Given the description of an element on the screen output the (x, y) to click on. 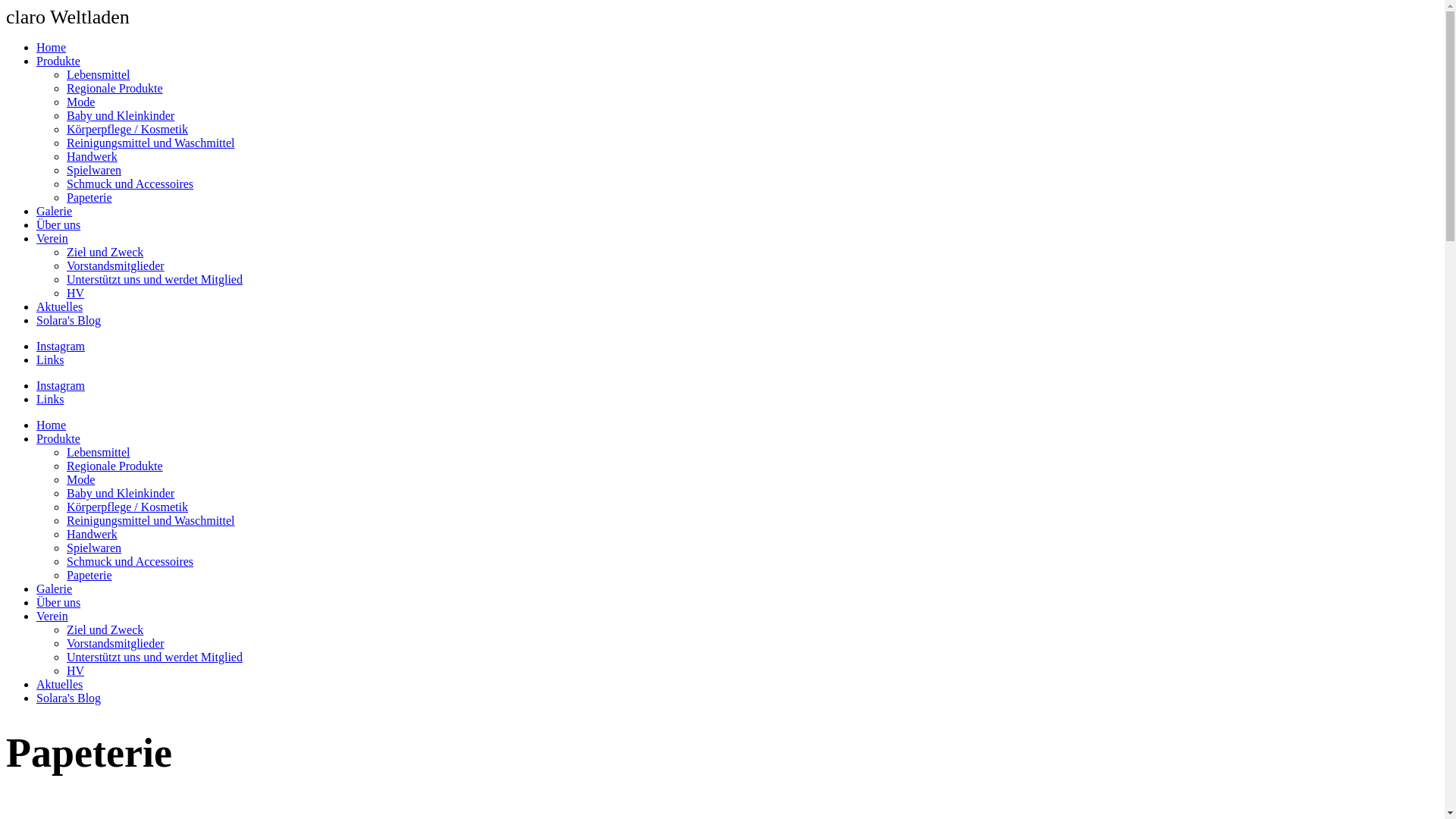
Vorstandsmitglieder Element type: text (115, 265)
Lebensmittel Element type: text (98, 451)
HV Element type: text (75, 292)
Links Element type: text (49, 359)
Links Element type: text (49, 398)
Spielwaren Element type: text (93, 547)
Galerie Element type: text (54, 588)
Home Element type: text (50, 46)
Regionale Produkte Element type: text (114, 465)
Regionale Produkte Element type: text (114, 87)
Mode Element type: text (80, 479)
Papeterie Element type: text (89, 197)
Handwerk Element type: text (91, 533)
Verein Element type: text (52, 615)
Ziel und Zweck Element type: text (104, 251)
Baby und Kleinkinder Element type: text (120, 115)
Solara's Blog Element type: text (68, 697)
Aktuelles Element type: text (59, 306)
Produkte Element type: text (58, 438)
Schmuck und Accessoires Element type: text (129, 561)
Ziel und Zweck Element type: text (104, 629)
Vorstandsmitglieder Element type: text (115, 643)
HV Element type: text (75, 670)
Aktuelles Element type: text (59, 683)
Schmuck und Accessoires Element type: text (129, 183)
Handwerk Element type: text (91, 156)
Produkte Element type: text (58, 60)
Solara's Blog Element type: text (68, 319)
Mode Element type: text (80, 101)
Galerie Element type: text (54, 210)
Reinigungsmittel und Waschmittel Element type: text (150, 142)
Instagram Element type: text (60, 385)
Spielwaren Element type: text (93, 169)
Instagram Element type: text (60, 345)
Papeterie Element type: text (89, 574)
Lebensmittel Element type: text (98, 74)
Reinigungsmittel und Waschmittel Element type: text (150, 520)
Verein Element type: text (52, 238)
Home Element type: text (50, 424)
Baby und Kleinkinder Element type: text (120, 492)
